Given the description of an element on the screen output the (x, y) to click on. 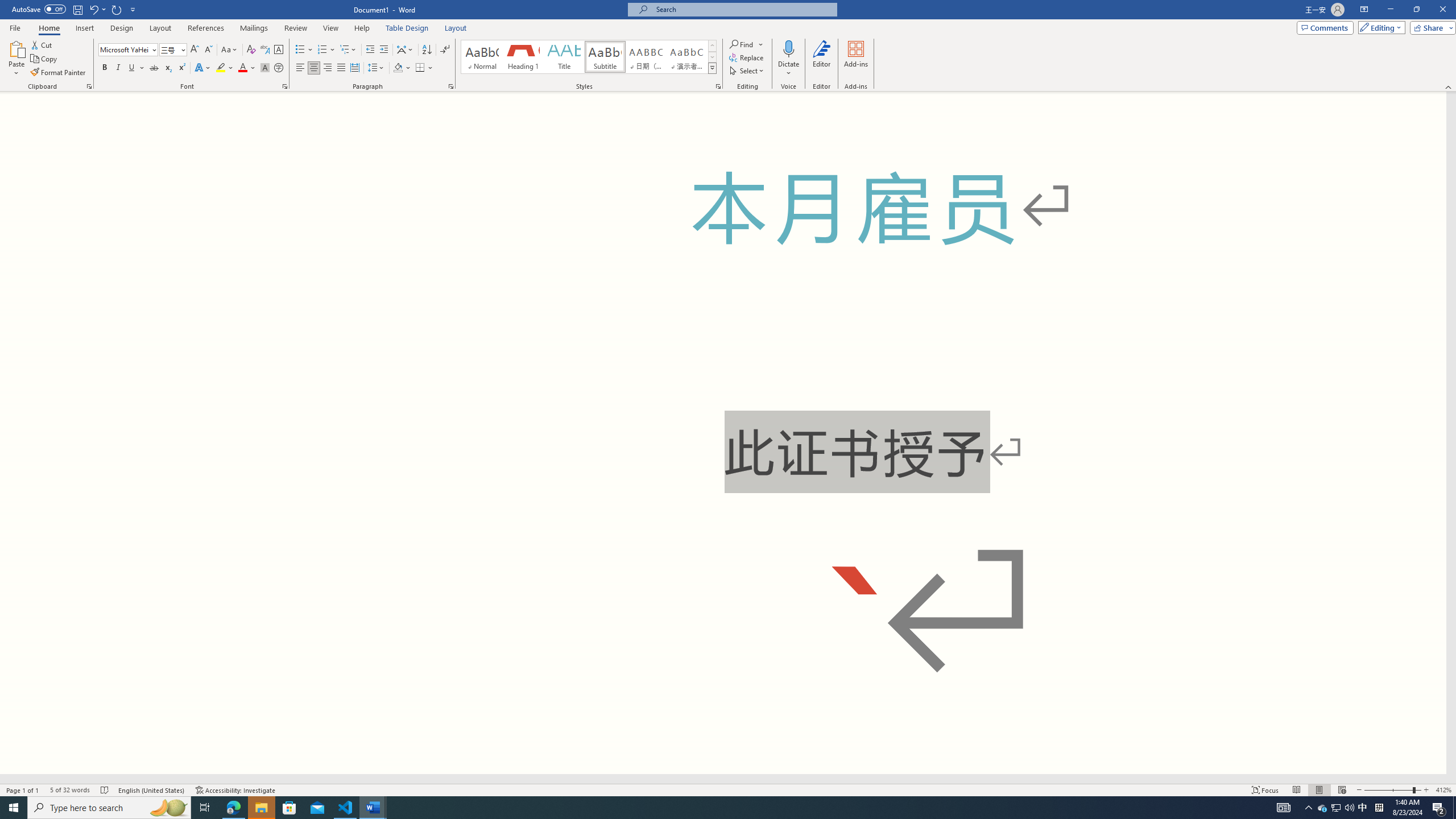
Undo Apply Quick Style (92, 9)
Dictate (788, 48)
Paragraph... (450, 85)
Table Design (407, 28)
Open (182, 49)
Minimize (1390, 9)
Italic (118, 67)
Distributed (354, 67)
Insert (83, 28)
Design (122, 28)
Shading RGB(0, 0, 0) (397, 67)
Cut (42, 44)
Web Layout (1342, 790)
Enclose Characters... (278, 67)
